Given the description of an element on the screen output the (x, y) to click on. 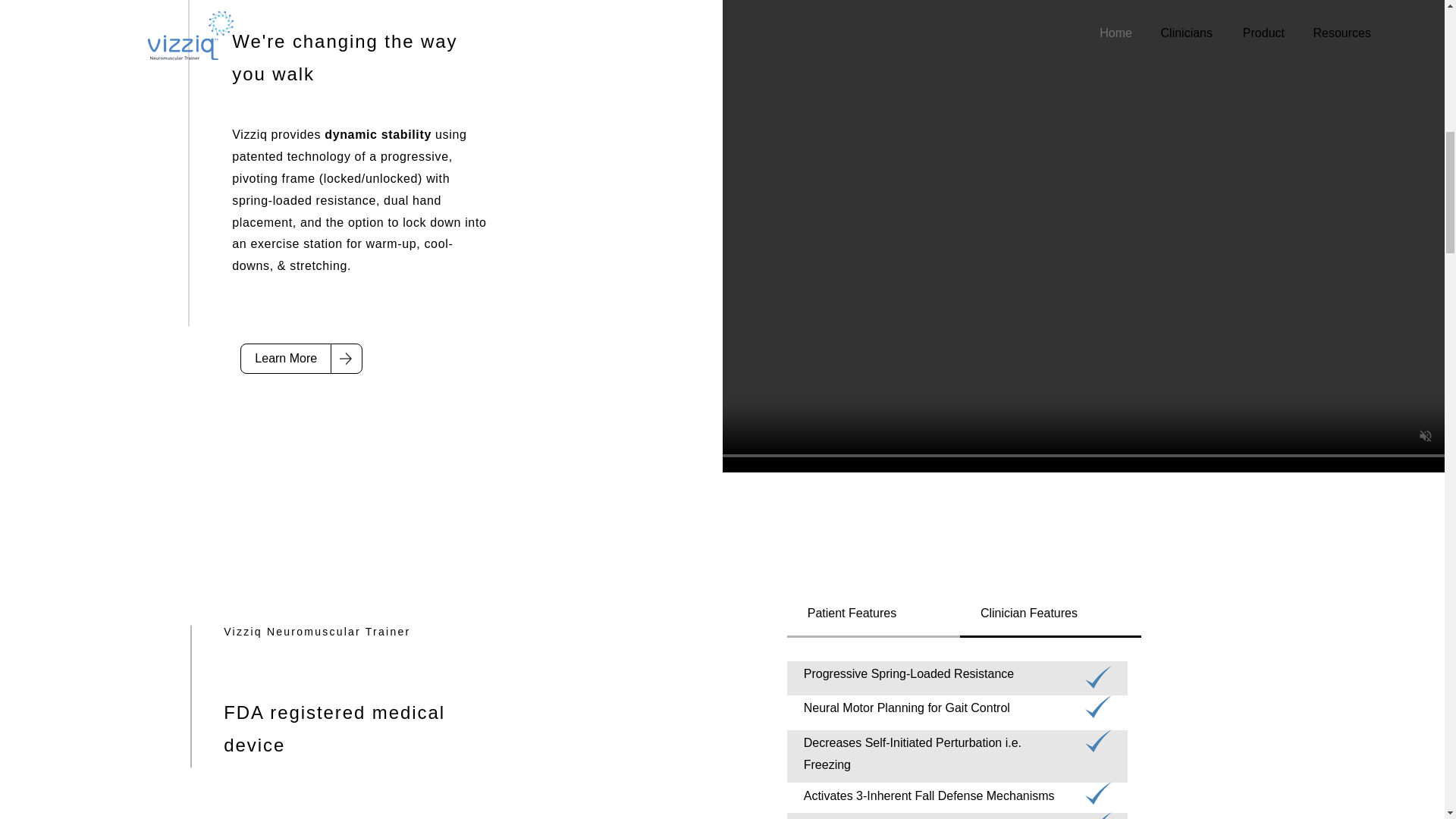
Learn More (285, 358)
